Given the description of an element on the screen output the (x, y) to click on. 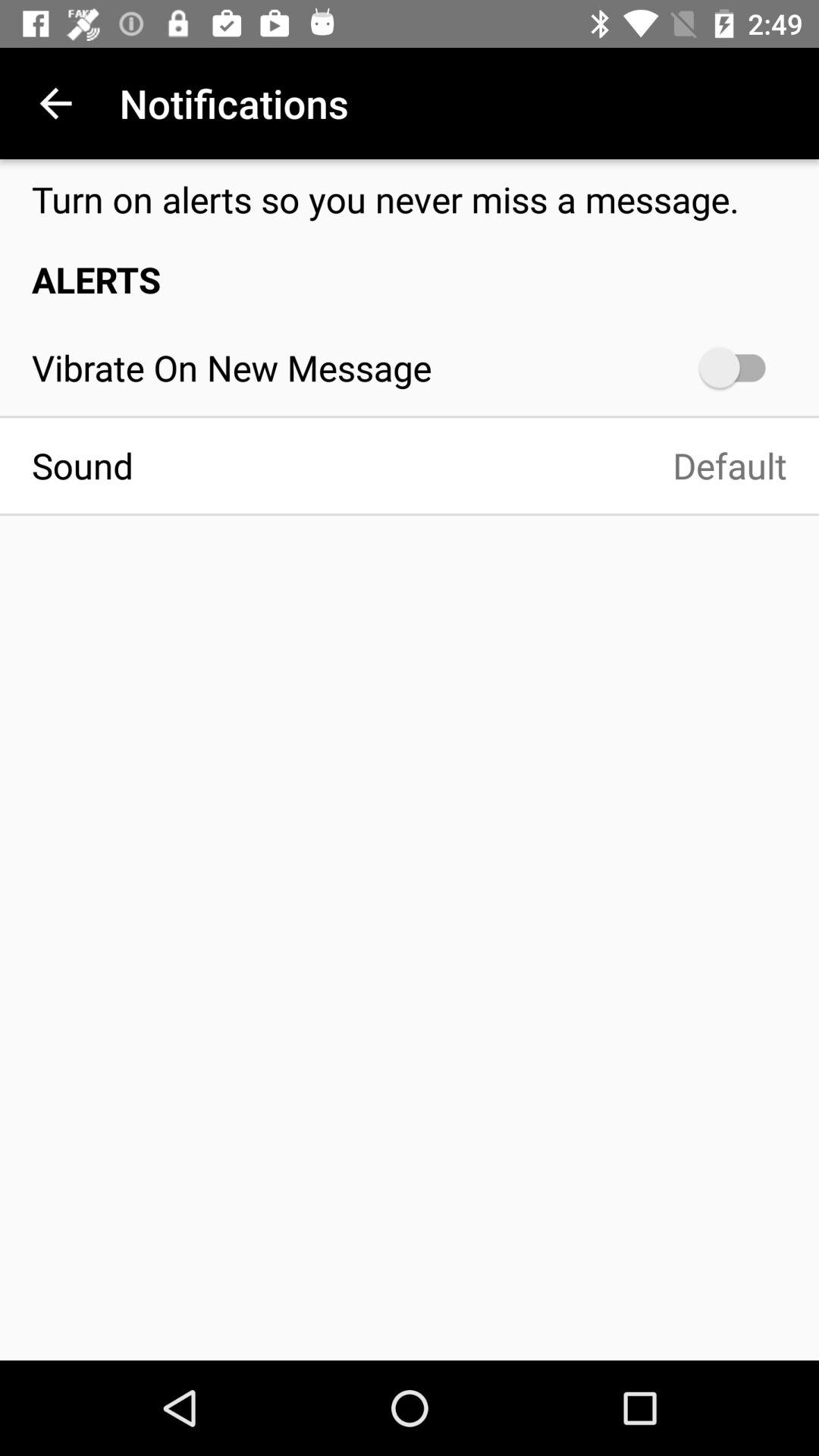
open icon to the right of the sound (476, 465)
